Given the description of an element on the screen output the (x, y) to click on. 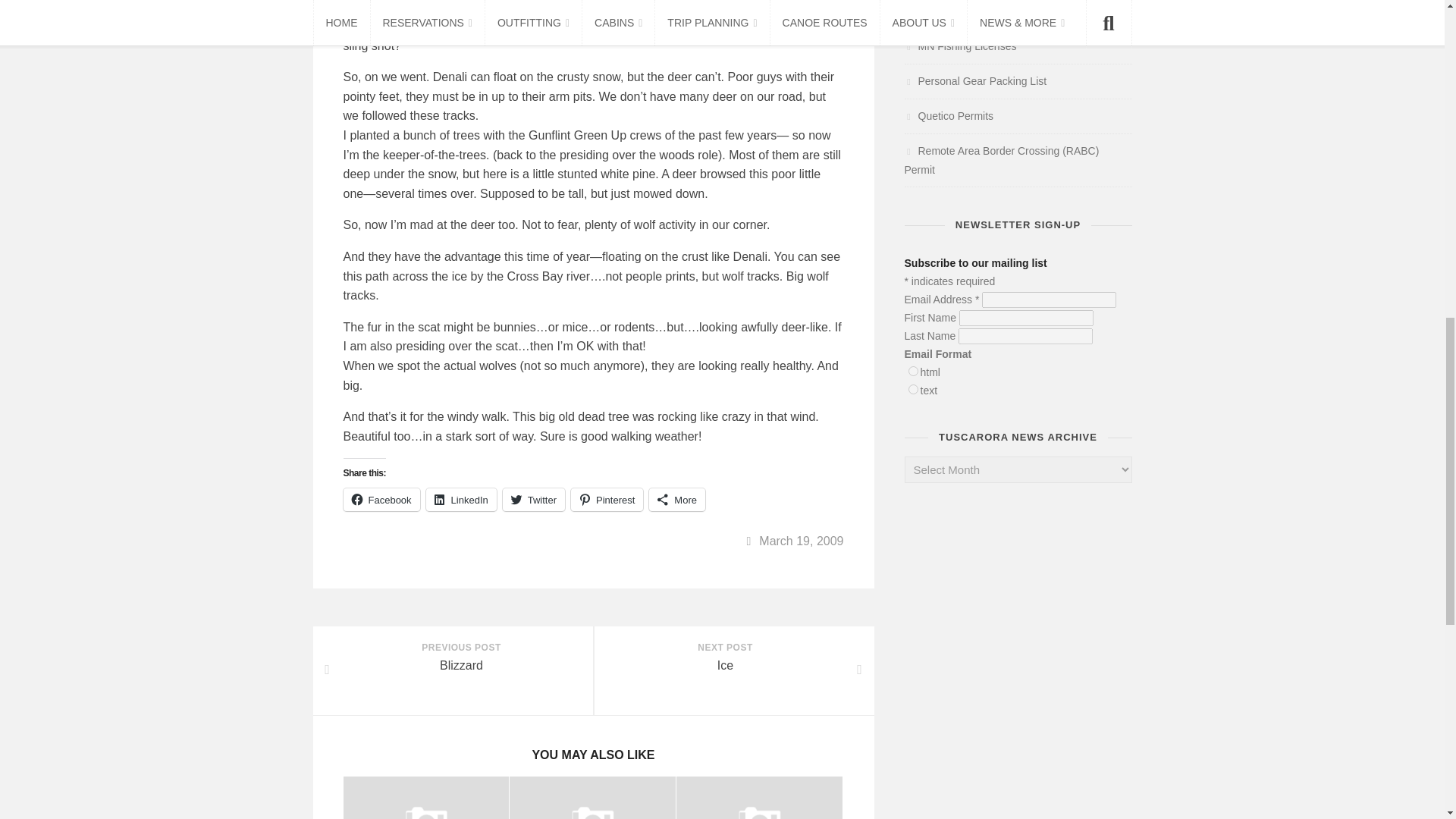
html (913, 370)
Click to share on LinkedIn (461, 499)
Suggested Canoe Routes (944, 10)
Click to share on Facebook (380, 499)
Click to share on Twitter (533, 499)
Click to share on Pinterest (606, 499)
text (913, 388)
